Given the description of an element on the screen output the (x, y) to click on. 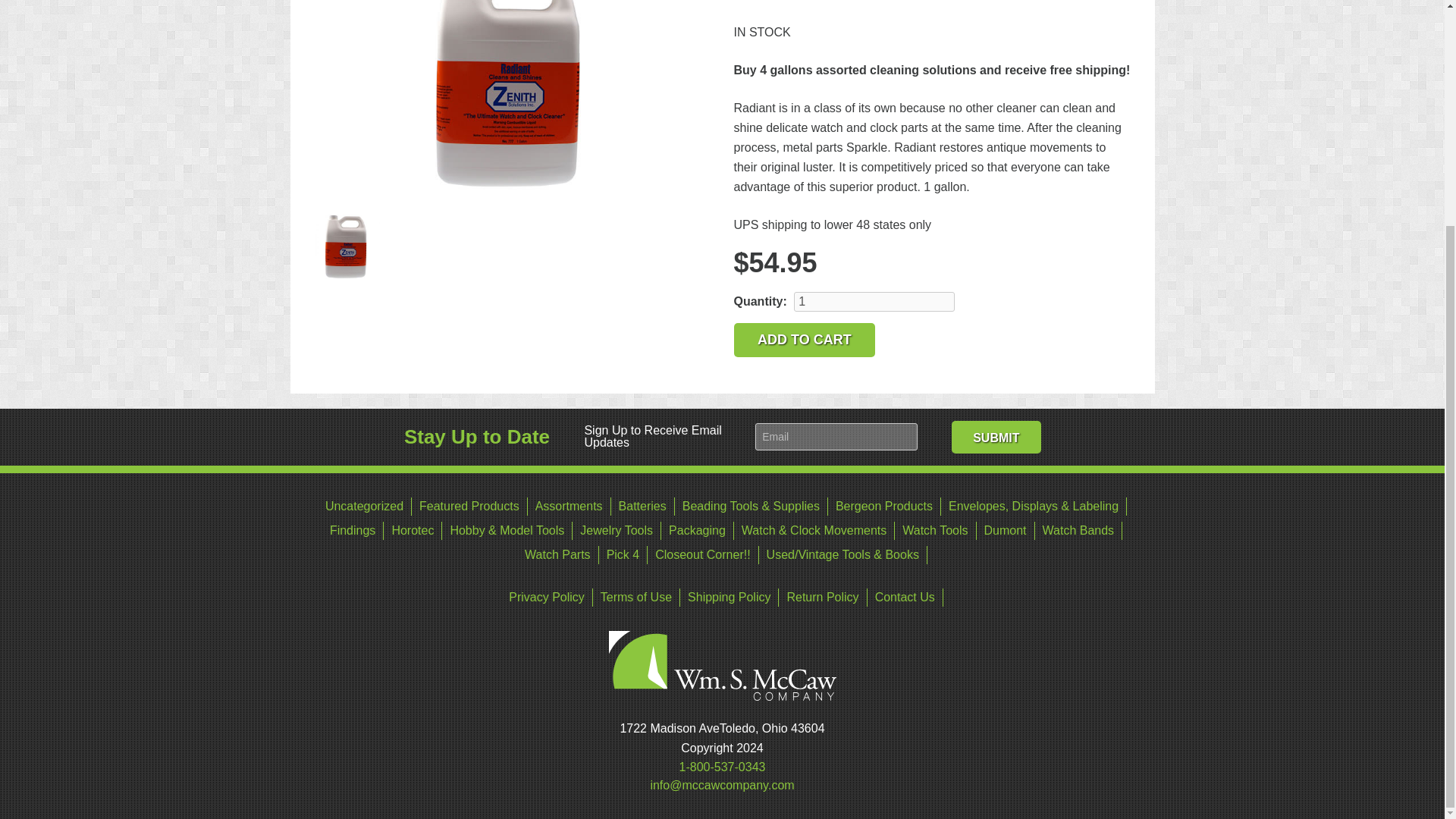
1 (874, 301)
Submit (996, 436)
click to call (721, 767)
Qty (874, 301)
